Given the description of an element on the screen output the (x, y) to click on. 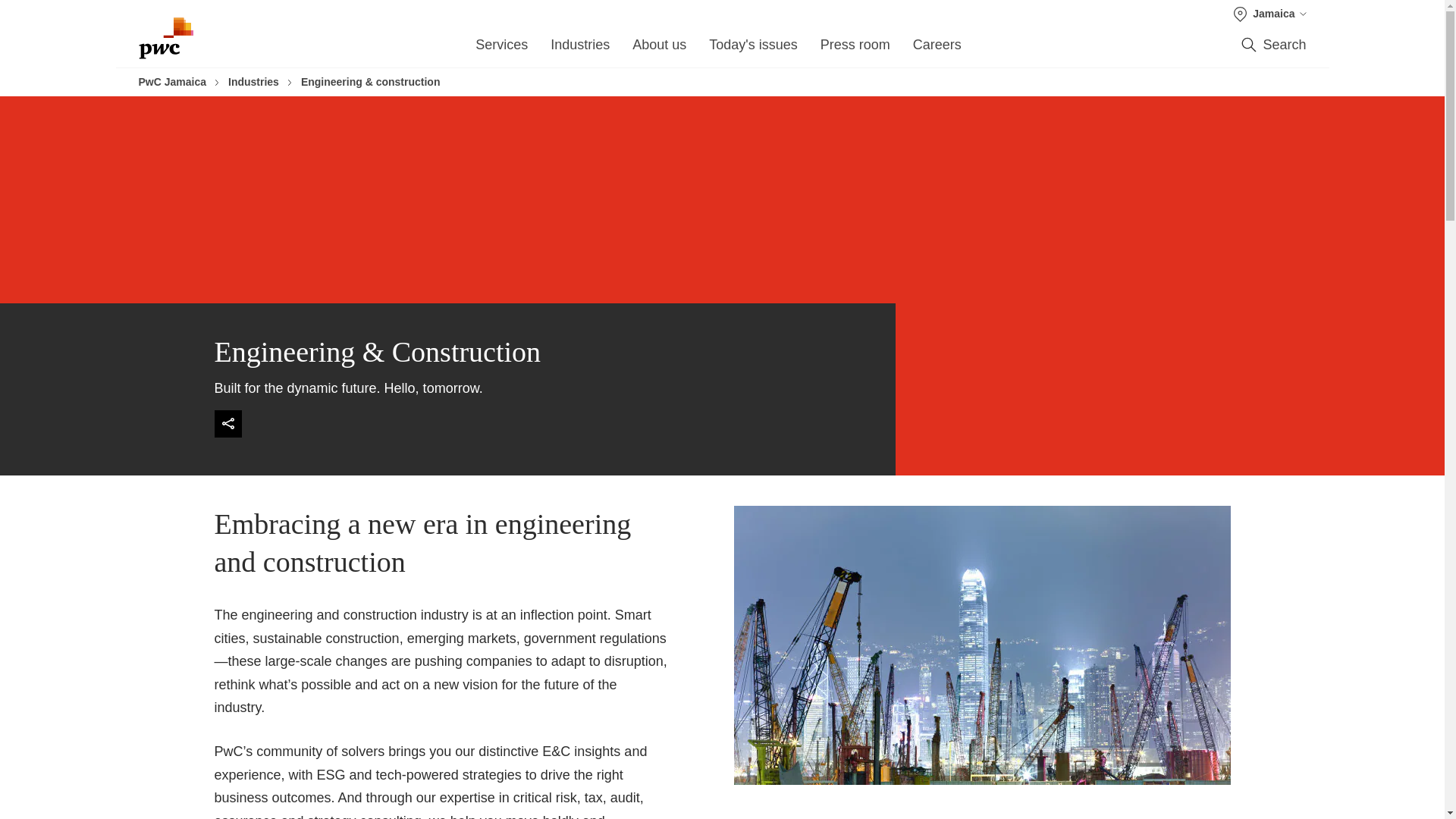
Press room (855, 49)
Today's issues (753, 49)
Jamaica (1269, 13)
About us (658, 49)
Careers (936, 49)
Industries (580, 49)
Services (501, 49)
